Given the description of an element on the screen output the (x, y) to click on. 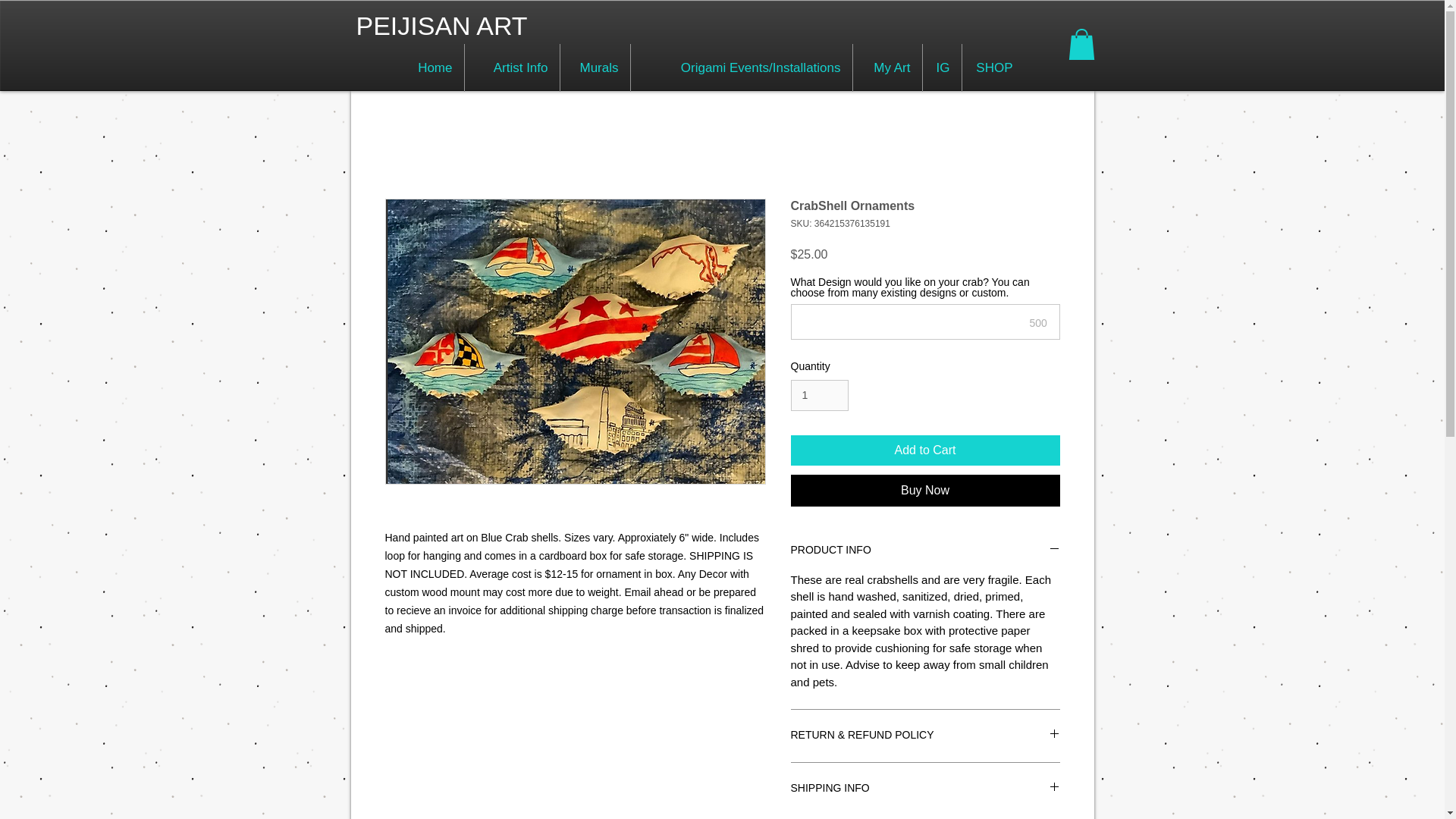
1 (818, 395)
My Art (886, 67)
Buy Now (924, 490)
Home (431, 67)
Add to Cart (924, 450)
PRODUCT INFO (924, 550)
Artist Info (511, 67)
SHOP (991, 67)
Murals (593, 67)
SHIPPING INFO (924, 788)
